Given the description of an element on the screen output the (x, y) to click on. 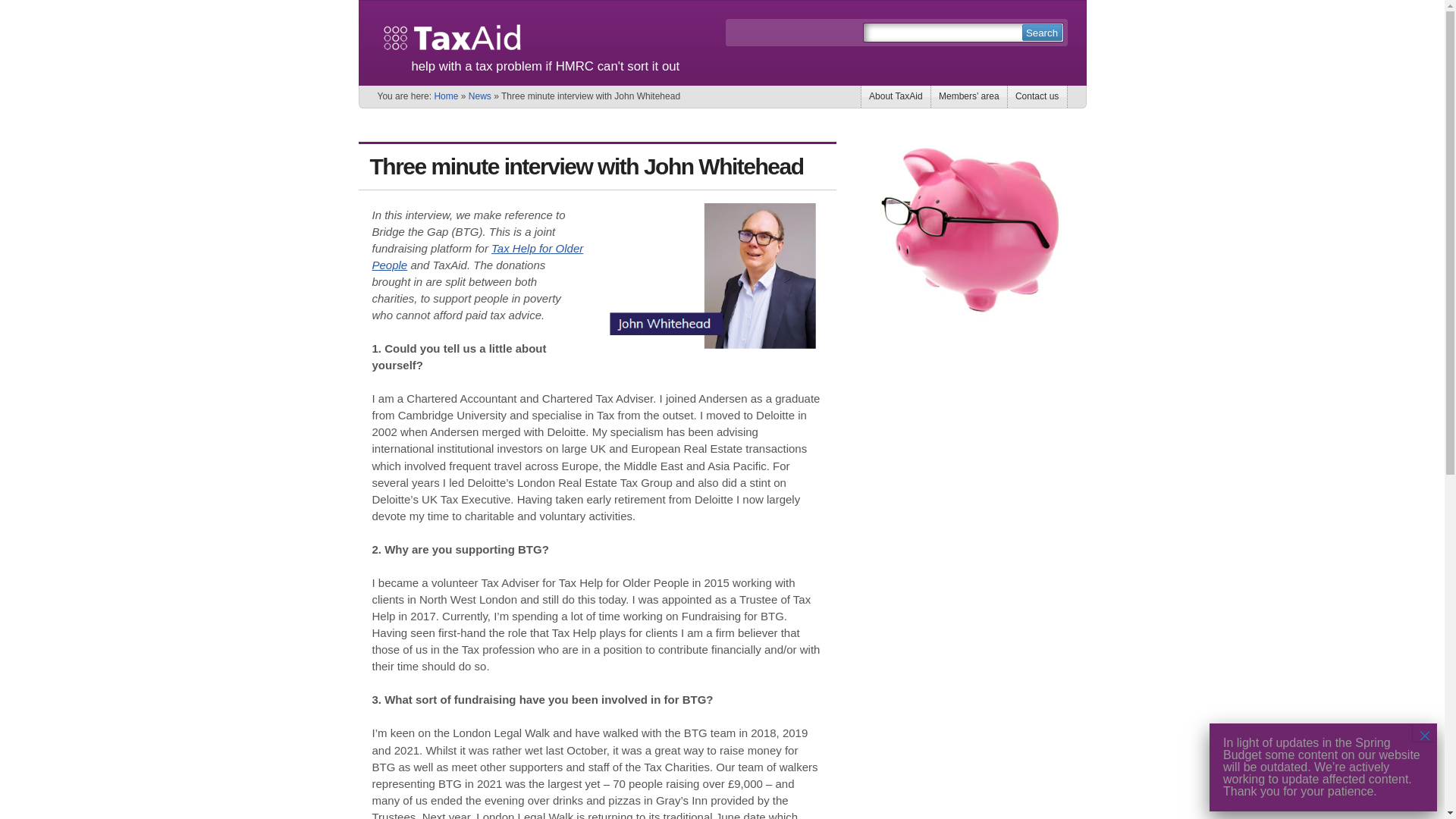
Home (445, 95)
Tax Help for Older People (477, 256)
News (480, 95)
TaxAid (451, 36)
